Given the description of an element on the screen output the (x, y) to click on. 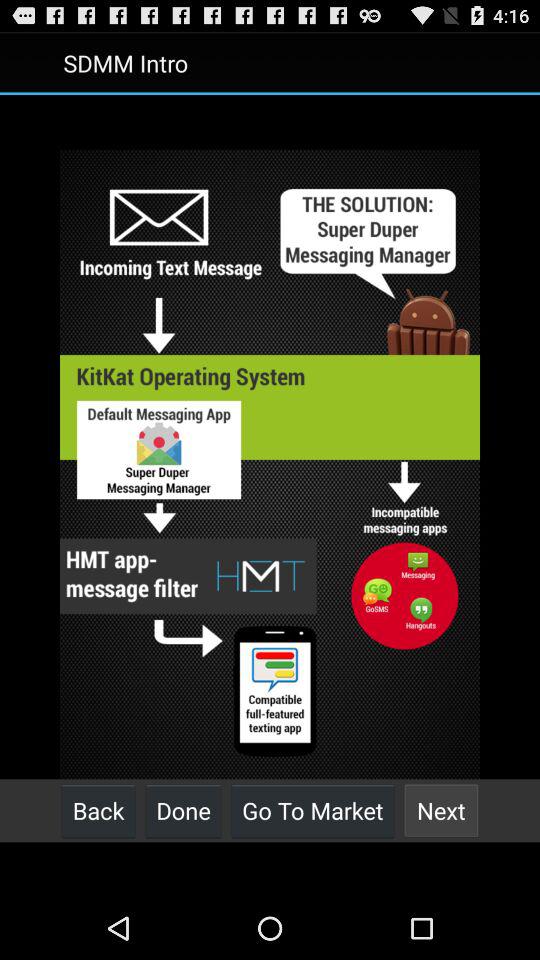
flip until the go to market (312, 810)
